Given the description of an element on the screen output the (x, y) to click on. 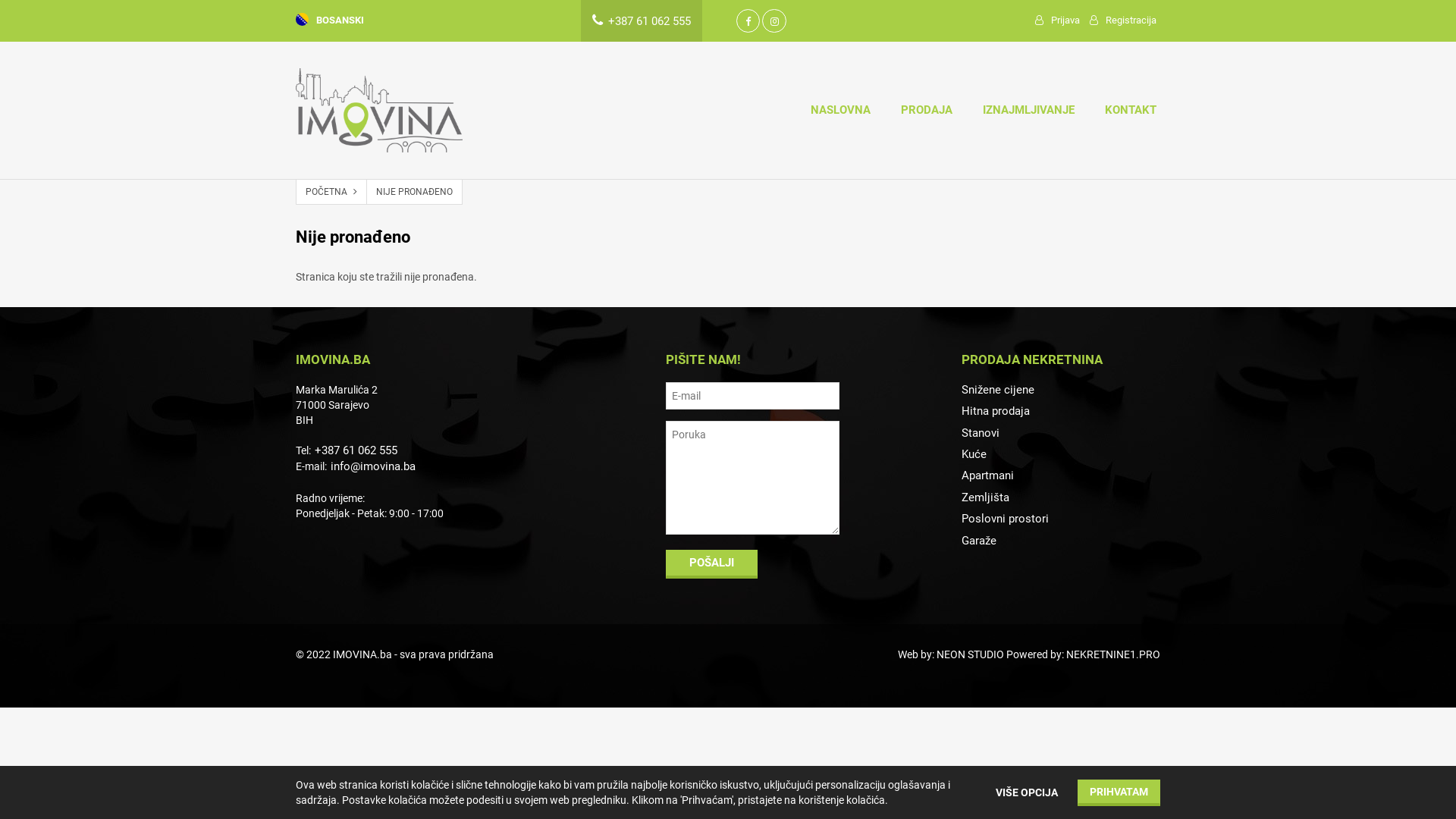
NASLOVNA Element type: text (840, 109)
BOSANSKI Element type: text (329, 19)
Hitna prodaja Element type: text (1061, 411)
info@imovina.ba Element type: text (370, 466)
Registracija Element type: text (1122, 20)
PRIHVATAM Element type: text (1118, 792)
+387 61 062 555 Element type: text (641, 20)
+387 61 062 555 Element type: text (353, 450)
Stanovi Element type: text (1061, 433)
KONTAKT Element type: text (1130, 109)
NEKRETNINE1.PRO Element type: text (1113, 654)
Facebook Element type: hover (747, 20)
Instagram Element type: hover (773, 20)
IMOVINA.ba Element type: text (362, 654)
Prijava Element type: text (1057, 20)
IZNAJMLJIVANJE Element type: text (1028, 109)
PRODAJA Element type: text (926, 109)
Apartmani Element type: text (1061, 475)
Poslovni prostori Element type: text (1061, 519)
NEON STUDIO Element type: text (970, 654)
